Given the description of an element on the screen output the (x, y) to click on. 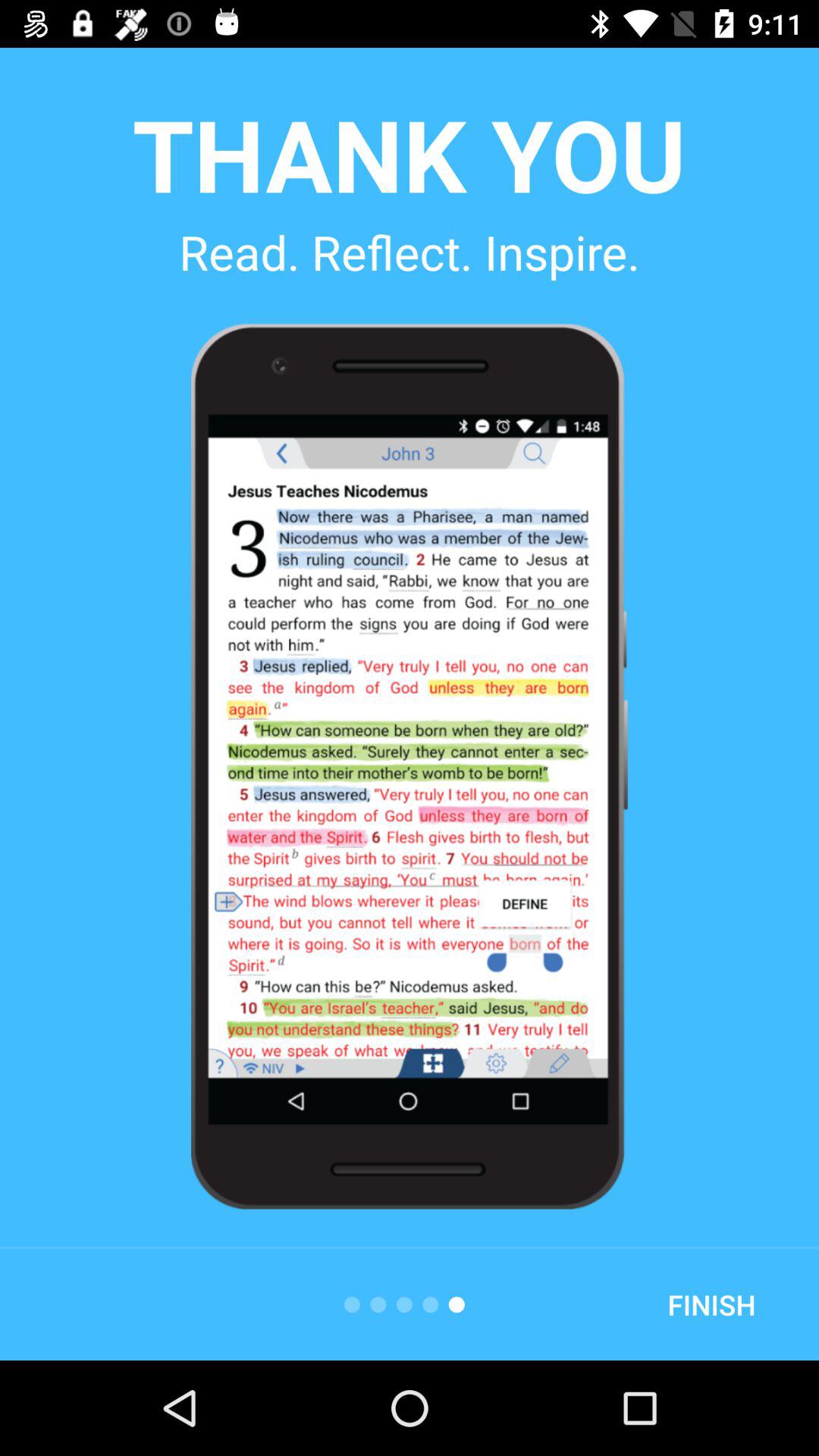
select thank you item (408, 153)
